Given the description of an element on the screen output the (x, y) to click on. 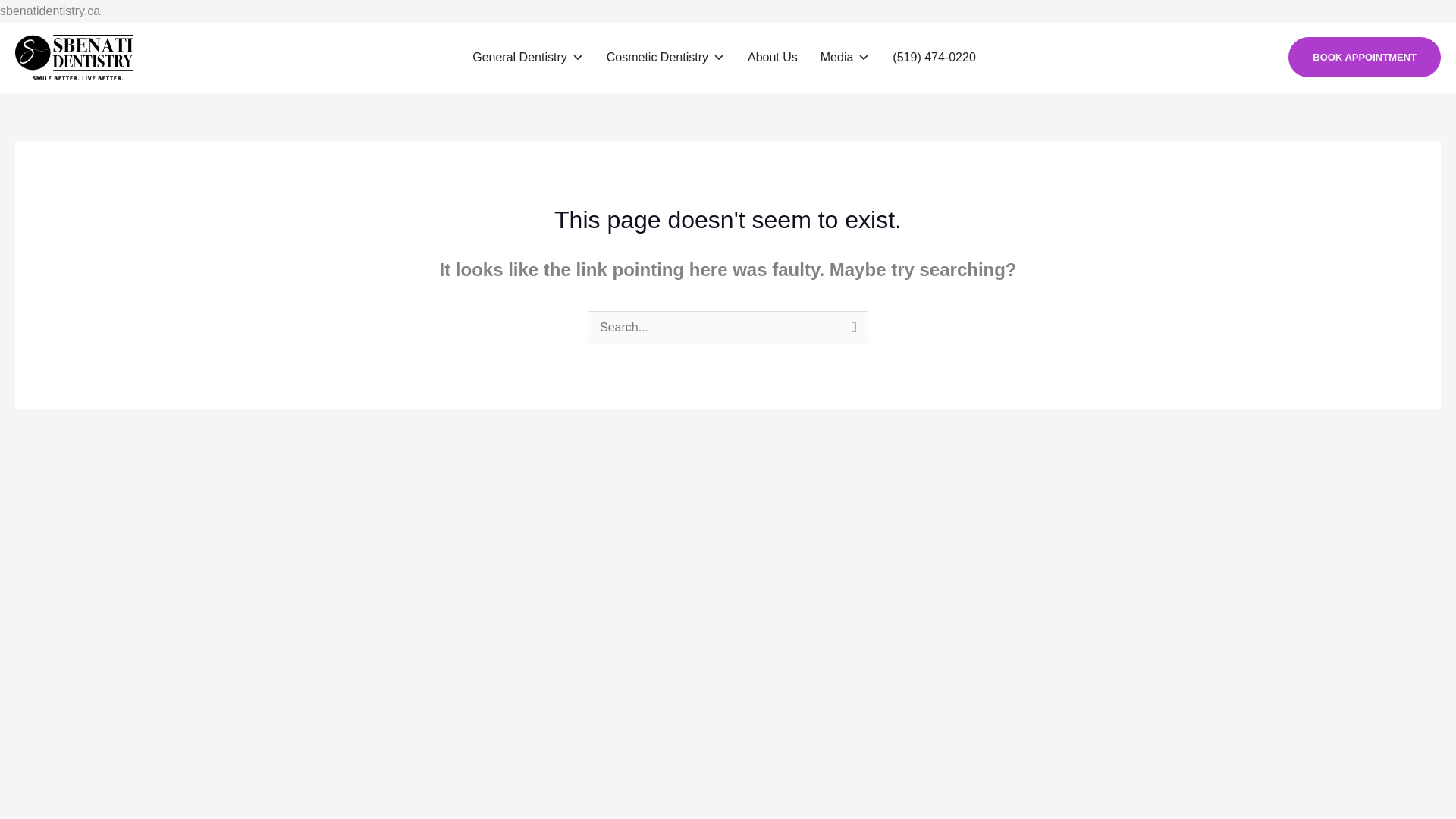
About Us (772, 57)
Media (844, 57)
BOOK APPOINTMENT (1364, 56)
General Dentistry (527, 57)
Cosmetic Dentistry (665, 57)
